Given the description of an element on the screen output the (x, y) to click on. 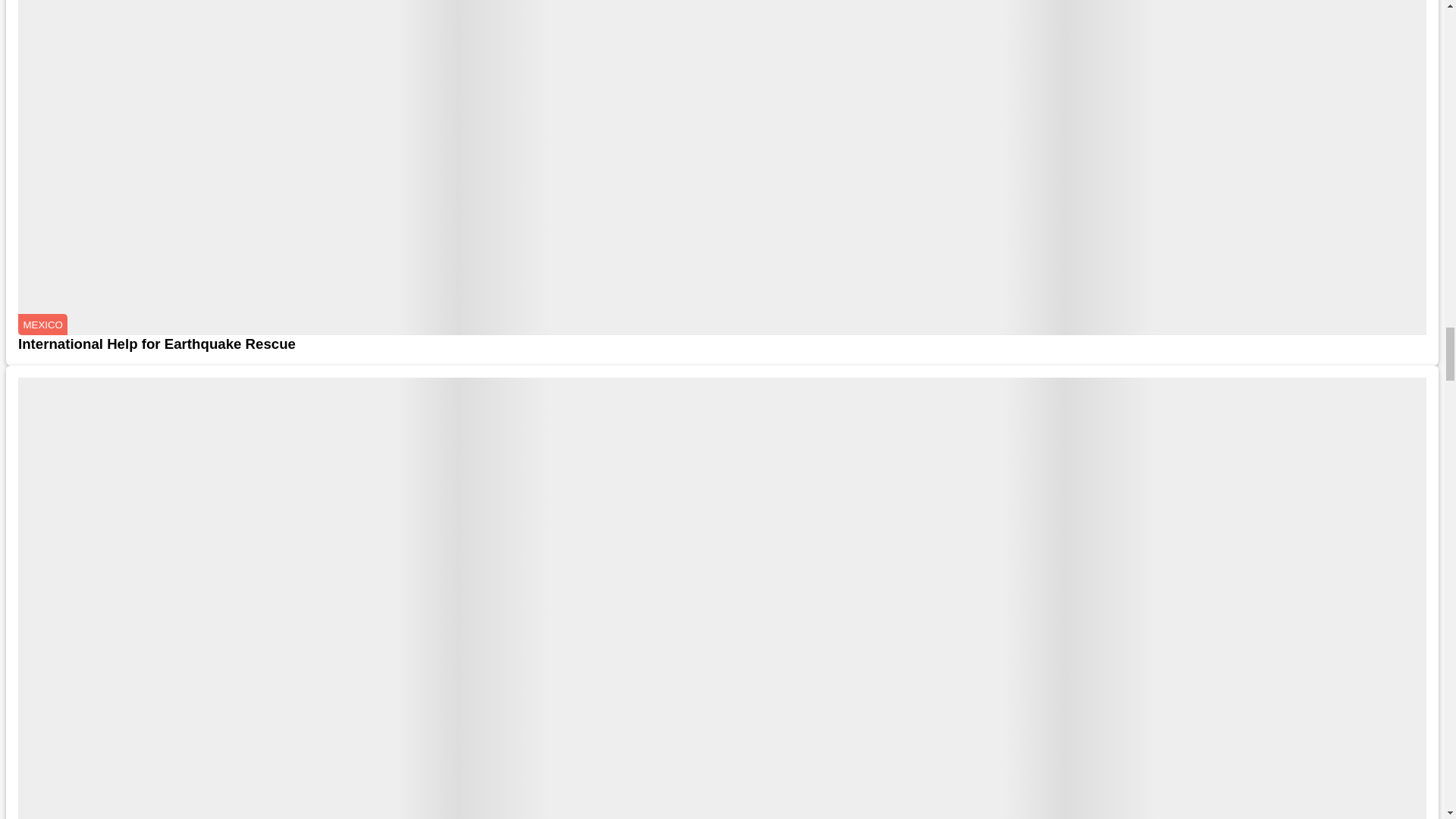
International Help for Earthquake Rescue (721, 343)
MEXICO (41, 323)
